Given the description of an element on the screen output the (x, y) to click on. 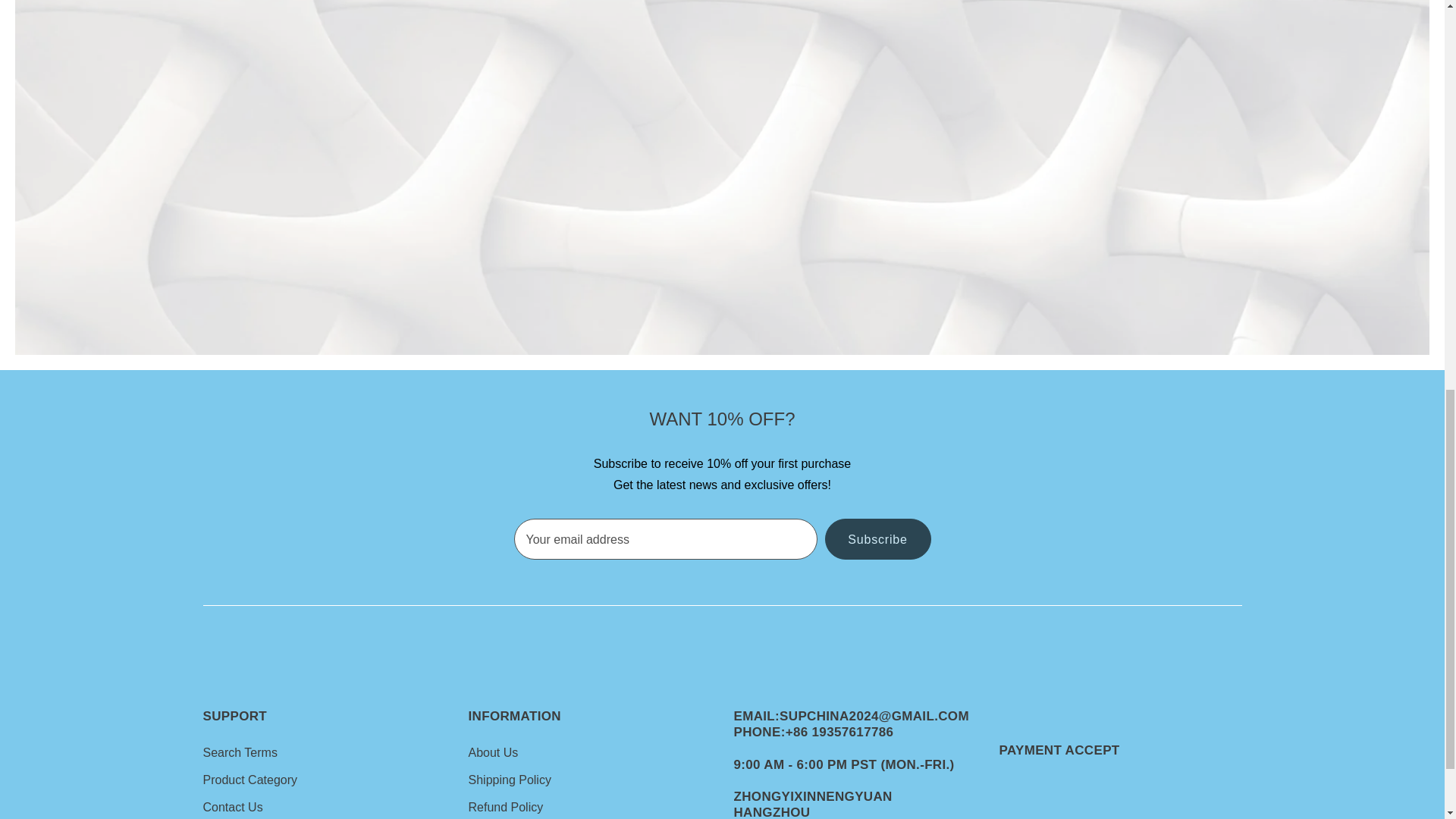
Subscribe (878, 538)
